Given the description of an element on the screen output the (x, y) to click on. 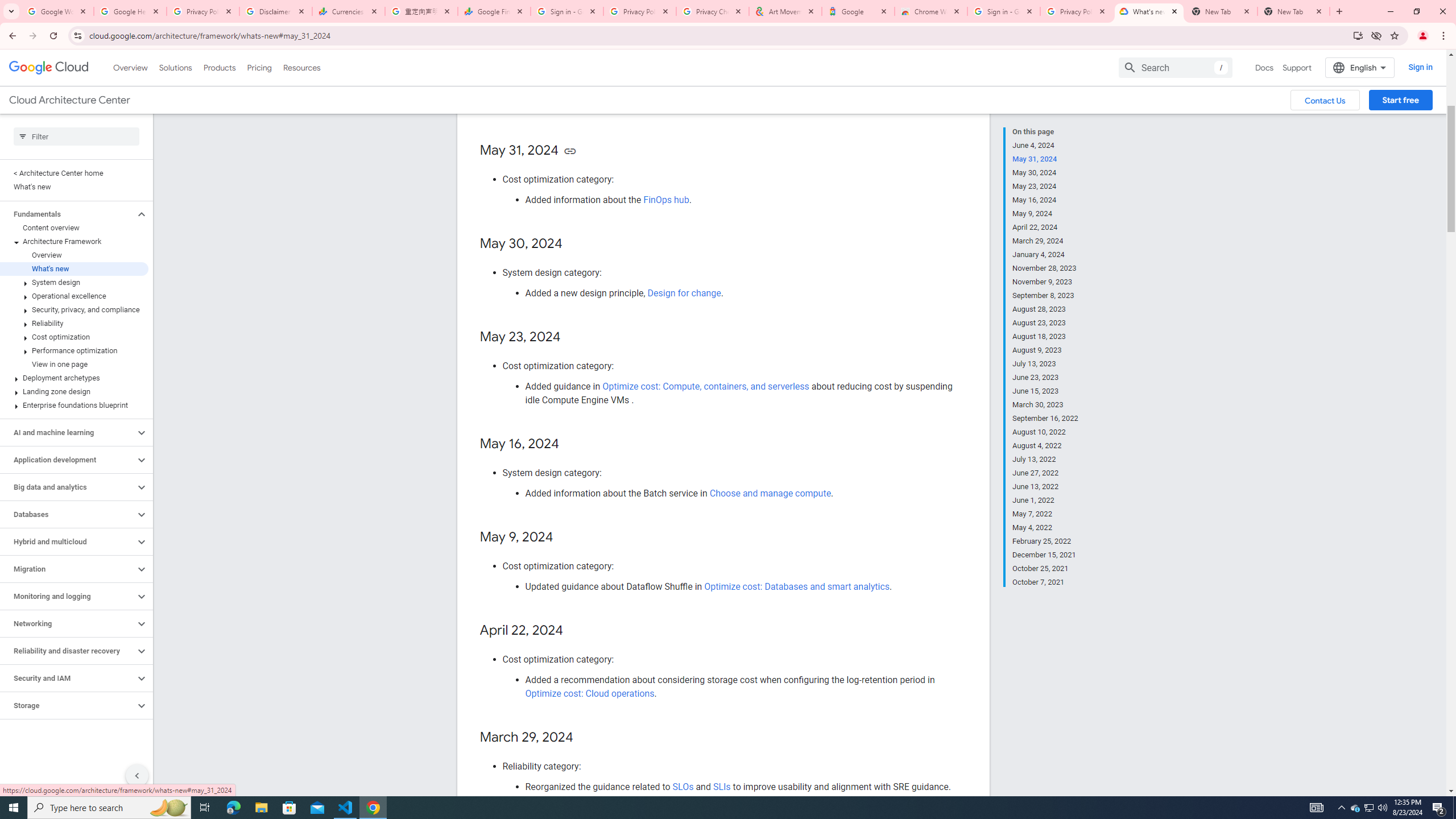
Copy link to this section: May 9, 2024 (564, 537)
Landing zone design (74, 391)
Copy link to this section: March 29, 2024 (583, 737)
Migration (67, 568)
optimizing (654, 92)
Performance optimization (74, 350)
Copy link to this section: May 23, 2024 (571, 337)
View in one page (74, 364)
Install Google Cloud (1358, 35)
Hide side navigation (136, 775)
New Tab (1293, 11)
